Given the description of an element on the screen output the (x, y) to click on. 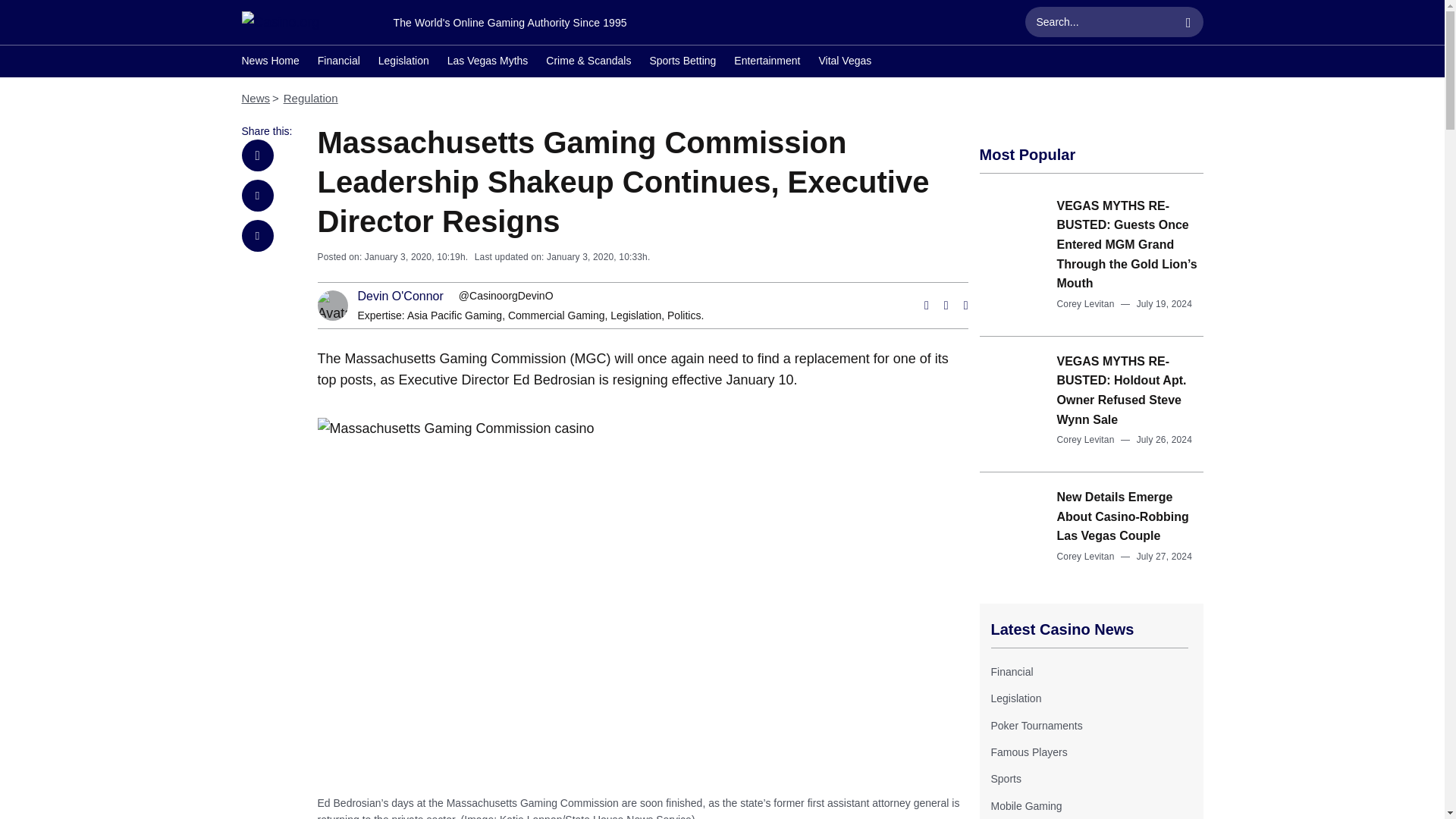
Financial (1011, 671)
Corey Levitan (1086, 439)
Corey Levitan (1086, 303)
Devin O'Connor (401, 296)
Sports Betting (682, 61)
News Home (269, 61)
Legislation (635, 315)
Las Vegas Myths (487, 61)
Asia Pacific Gaming (454, 315)
Sports (1005, 778)
Financial (338, 61)
Commercial Gaming (556, 315)
Devin O'Connor (401, 296)
Commercial Gaming (556, 315)
Entertainment (766, 61)
